Given the description of an element on the screen output the (x, y) to click on. 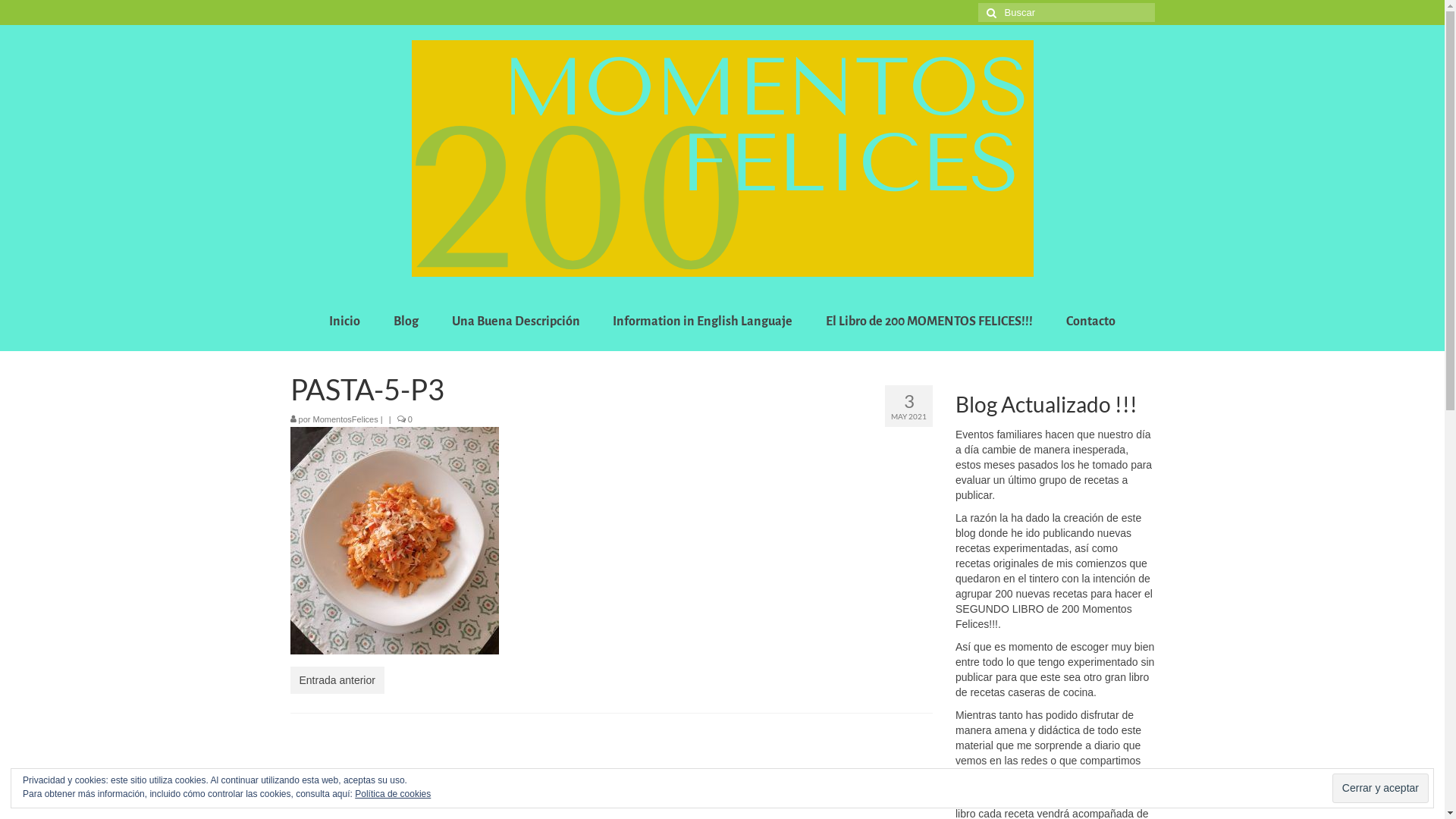
Blog Element type: text (405, 321)
El Libro de 200 MOMENTOS FELICES!!! Element type: text (929, 321)
Inicio Element type: text (344, 321)
MomentosFelices Element type: text (345, 418)
Cerrar y aceptar Element type: text (1380, 788)
Entrada anterior Element type: text (336, 679)
Contacto Element type: text (1090, 321)
Information in English Languaje Element type: text (702, 321)
